Given the description of an element on the screen output the (x, y) to click on. 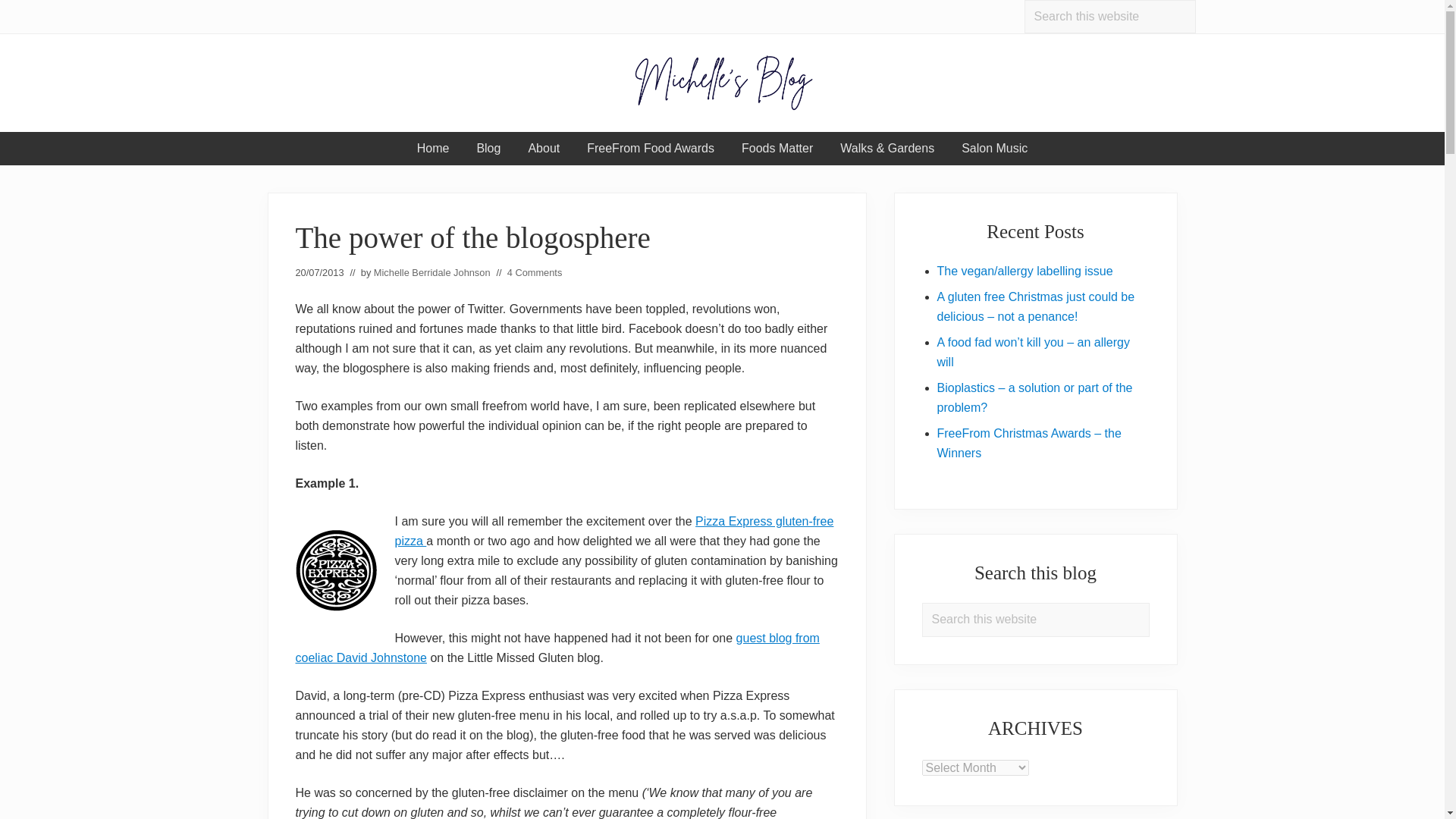
Blog (488, 148)
Michelle Berridale Johnson (432, 272)
About (543, 148)
guest blog from coeliac David Johnstone (557, 647)
4 Comments (534, 272)
Home (433, 148)
4 Comments (534, 272)
Foods Matter (777, 148)
Salon Music (994, 148)
Pizza Express gluten-free pizza (613, 531)
They have finally done it! Pizza Express goes gluten-free! (613, 531)
All about Michelle and her blog (543, 148)
